Given the description of an element on the screen output the (x, y) to click on. 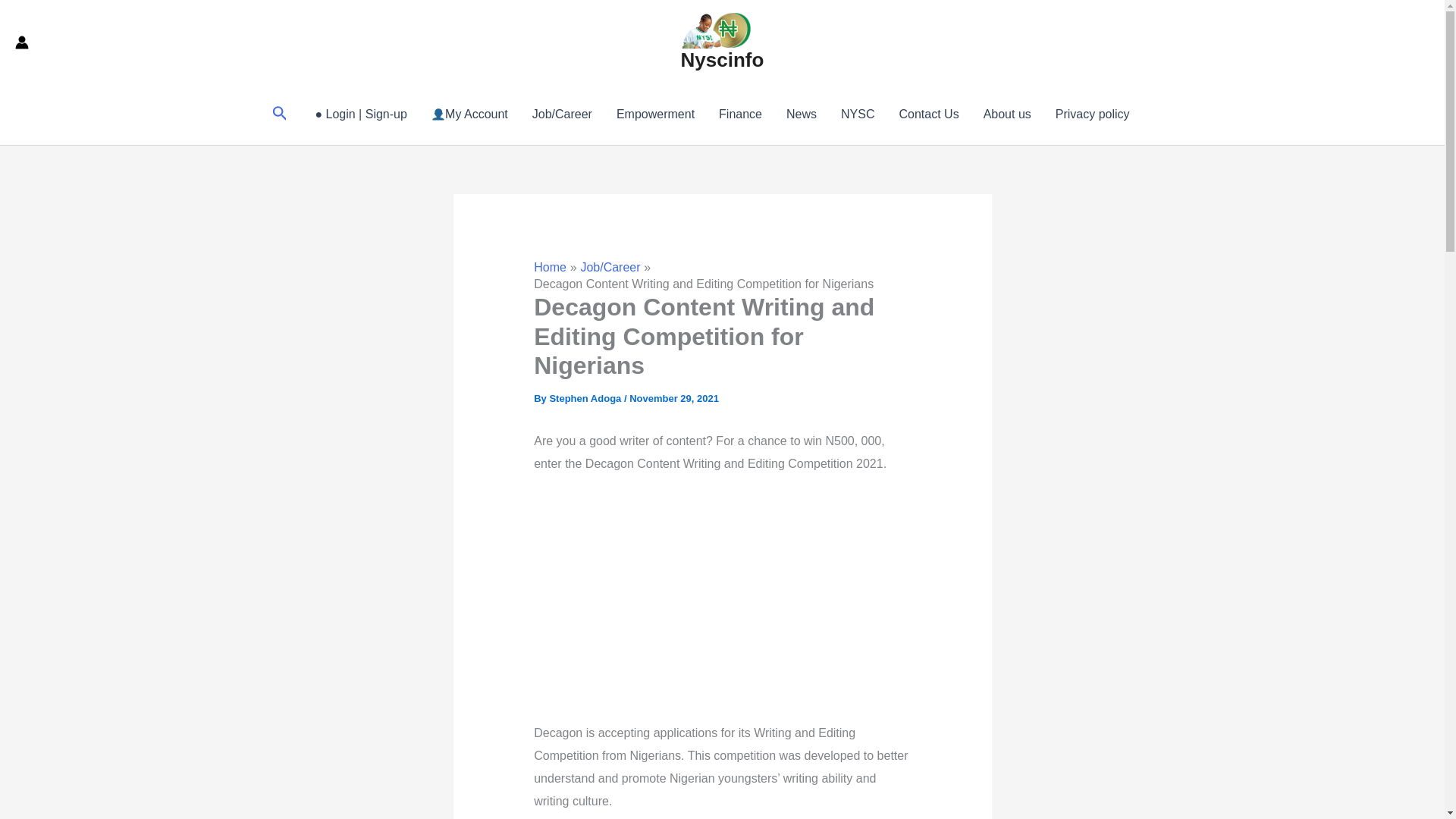
Contact Us (928, 114)
View all posts by Stephen Adoga (585, 398)
Empowerment (655, 114)
Finance (740, 114)
Home (550, 267)
NYSC (857, 114)
Nyscinfo (722, 59)
About us (1007, 114)
Advertisement (772, 600)
Stephen Adoga (585, 398)
News (801, 114)
My Account (469, 114)
Privacy policy (1092, 114)
